Given the description of an element on the screen output the (x, y) to click on. 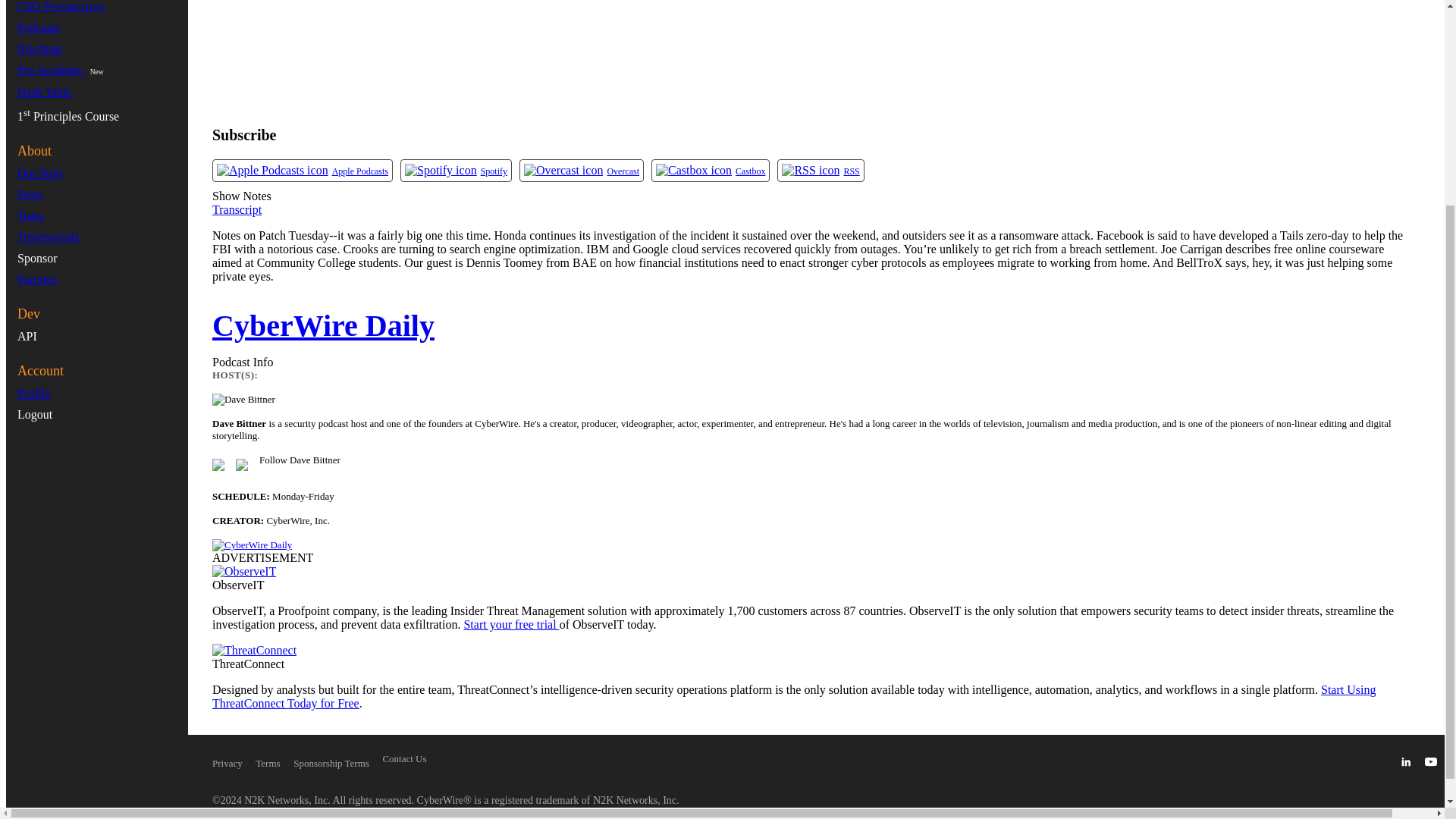
CSO Perspectives (60, 6)
API (27, 336)
Hash Table (44, 91)
Press (30, 194)
1st Principles Course (68, 115)
Apple Podcasts (272, 170)
Overcast (563, 170)
Profile (33, 392)
RSS (810, 170)
Sponsor (36, 257)
